Given the description of an element on the screen output the (x, y) to click on. 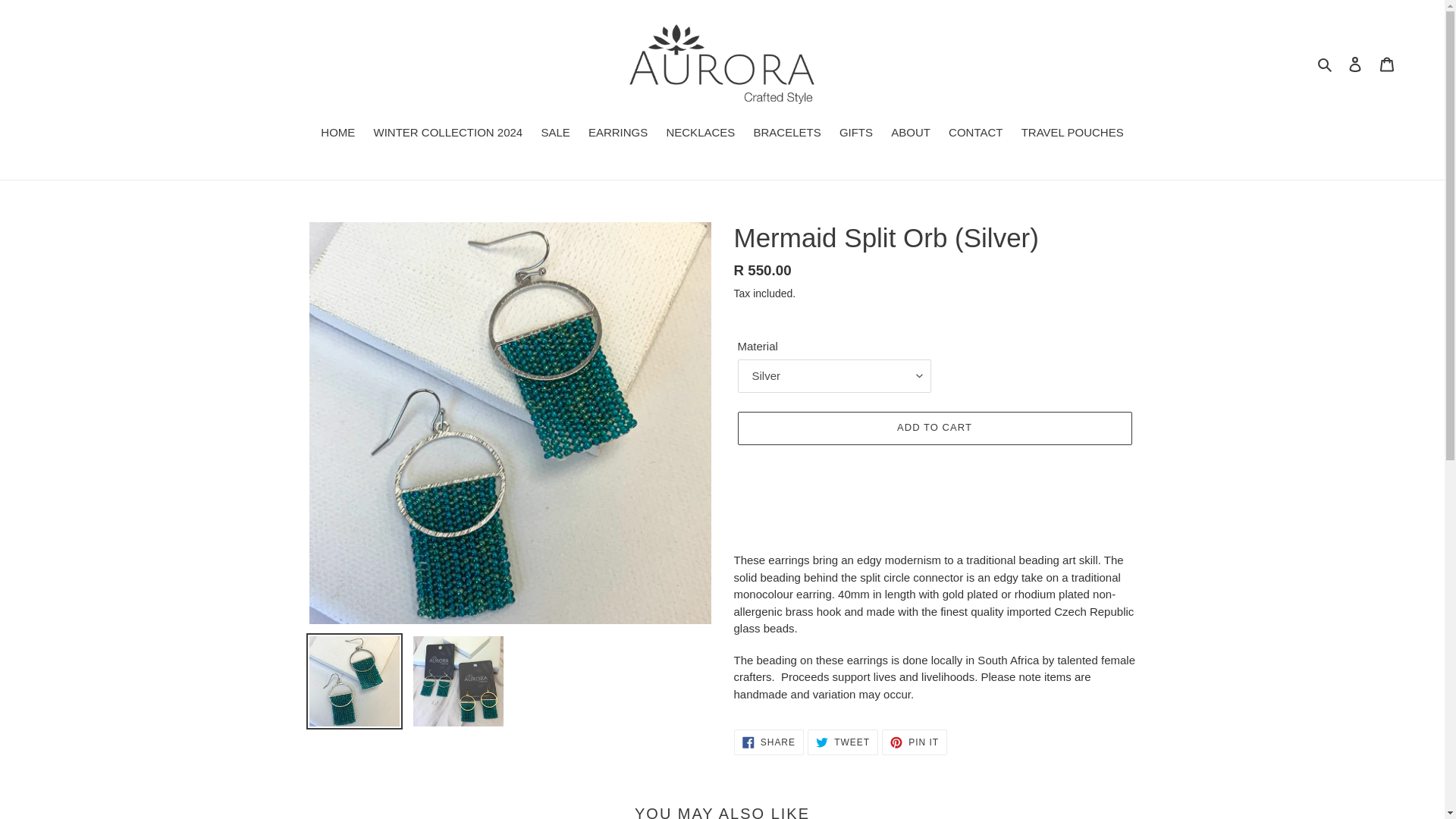
TRAVEL POUCHES (914, 742)
Cart (1072, 134)
HOME (1387, 63)
Search (337, 134)
NECKLACES (1326, 63)
Log in (842, 742)
WINTER COLLECTION 2024 (700, 134)
